Given the description of an element on the screen output the (x, y) to click on. 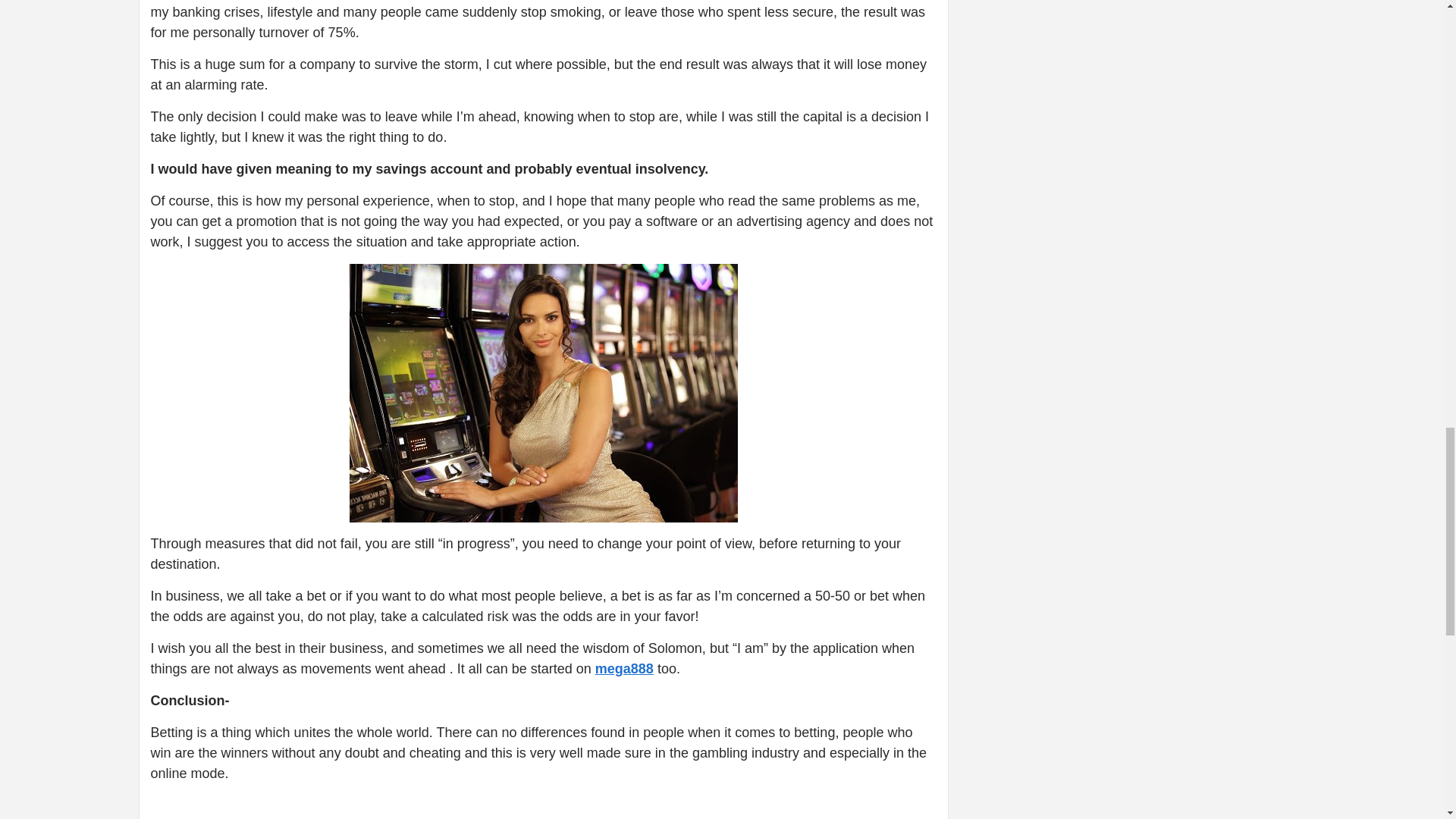
mega888 (624, 668)
